Given the description of an element on the screen output the (x, y) to click on. 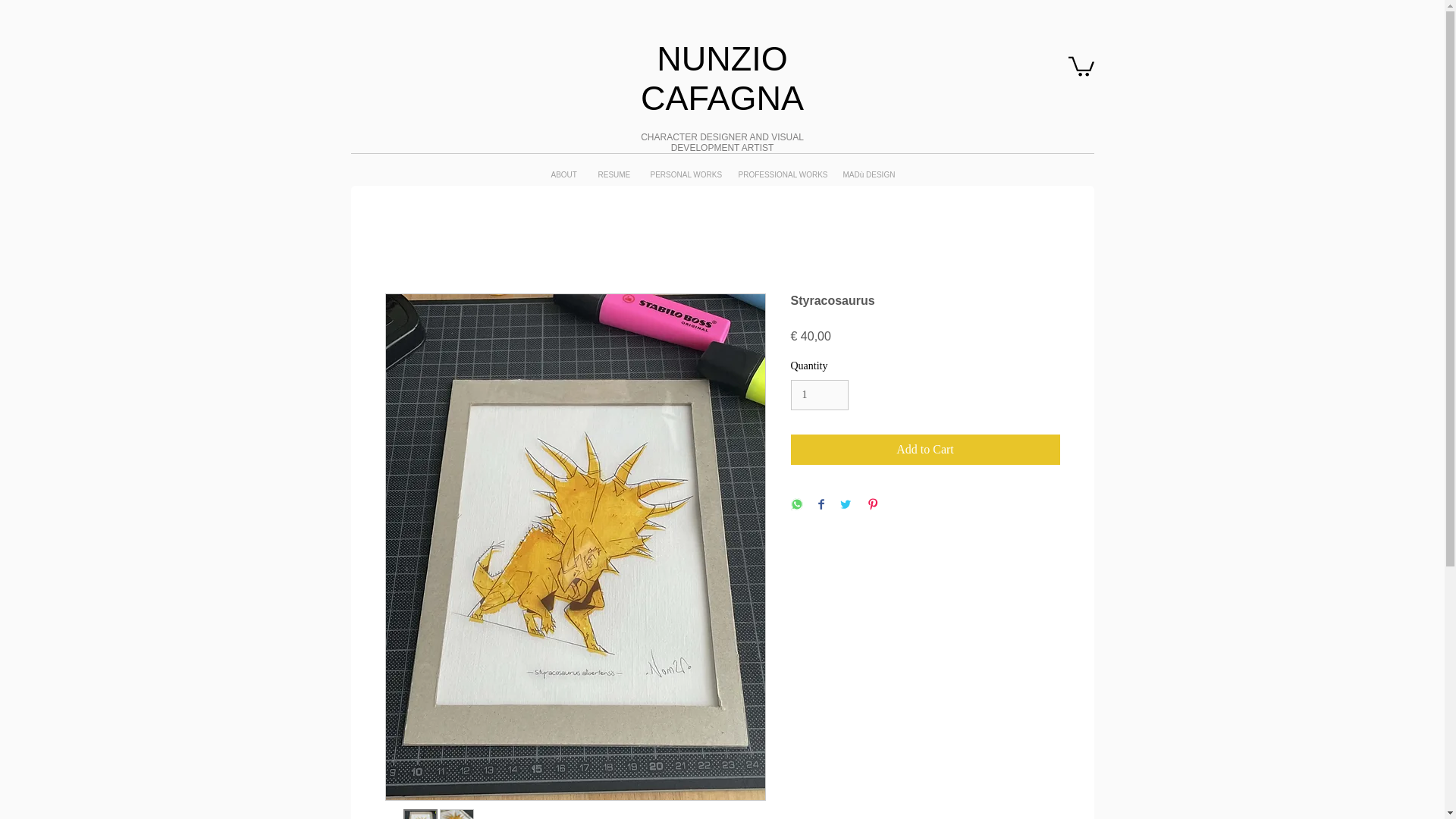
ABOUT (563, 174)
RESUME (612, 174)
PROFESSIONAL WORKS (778, 174)
1 (818, 395)
Add to Cart (924, 449)
PERSONAL WORKS (682, 174)
